Given the description of an element on the screen output the (x, y) to click on. 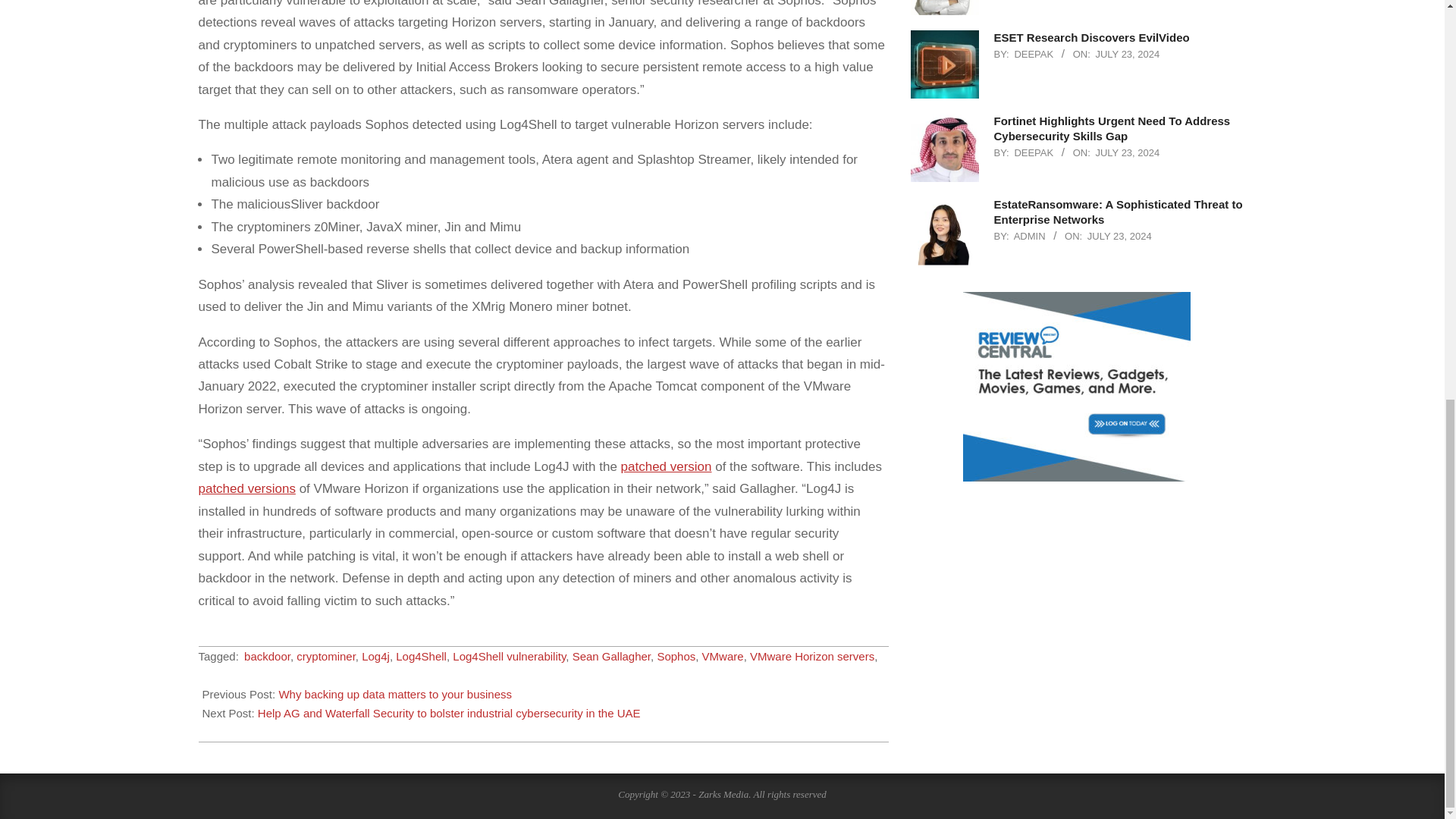
Tuesday, July 23, 2024, 2:16 pm (1126, 53)
Posts by Deepak (1032, 152)
Tuesday, July 23, 2024, 11:44 am (1126, 152)
Posts by admin (1029, 235)
Tuesday, July 23, 2024, 10:02 am (1119, 235)
Posts by Deepak (1032, 53)
